Given the description of an element on the screen output the (x, y) to click on. 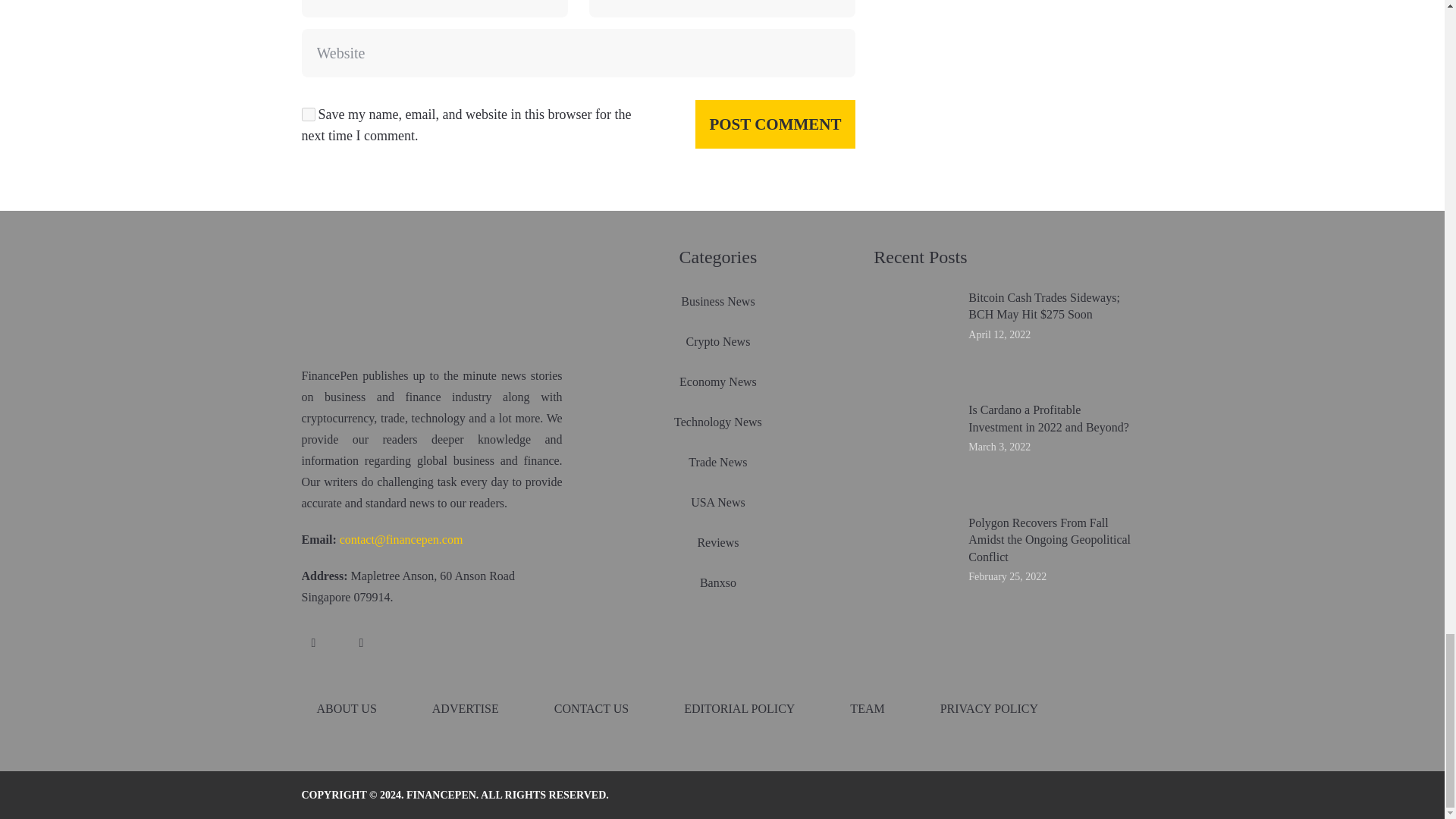
Facebook (313, 642)
yes (308, 114)
Post Comment (774, 123)
Twitter (360, 642)
